Given the description of an element on the screen output the (x, y) to click on. 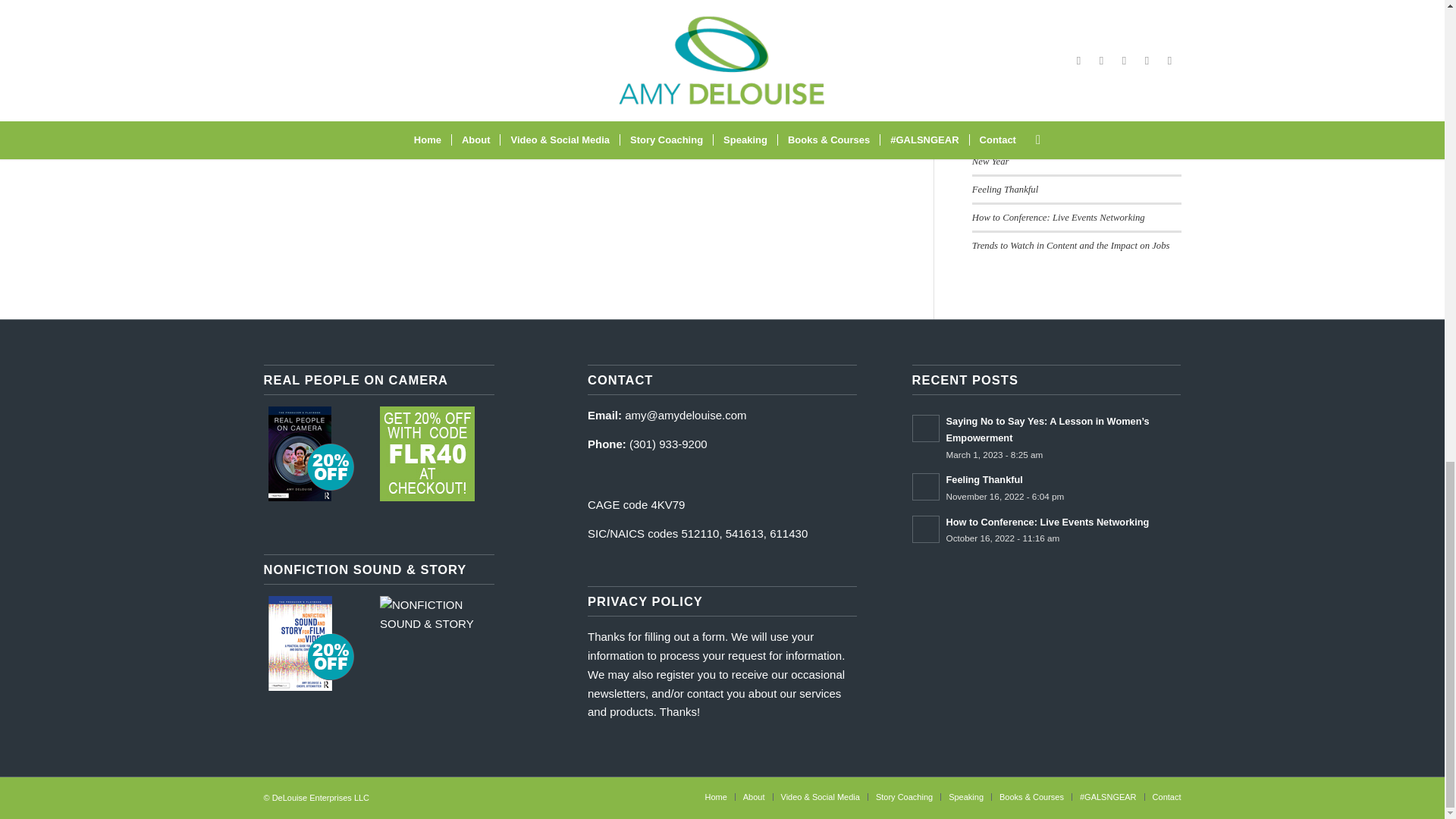
REAL PEOPLE ON CAMERA (310, 453)
Weightlifting, Failure and Creative Thinking in the New Year (1070, 153)
REAL PEOPLE ON CAMERA (427, 453)
Trends to Watch in Content and the Impact on Jobs (1071, 245)
Feeling Thankful (1005, 189)
How to Conference: Live Events Networking (1058, 217)
